Given the description of an element on the screen output the (x, y) to click on. 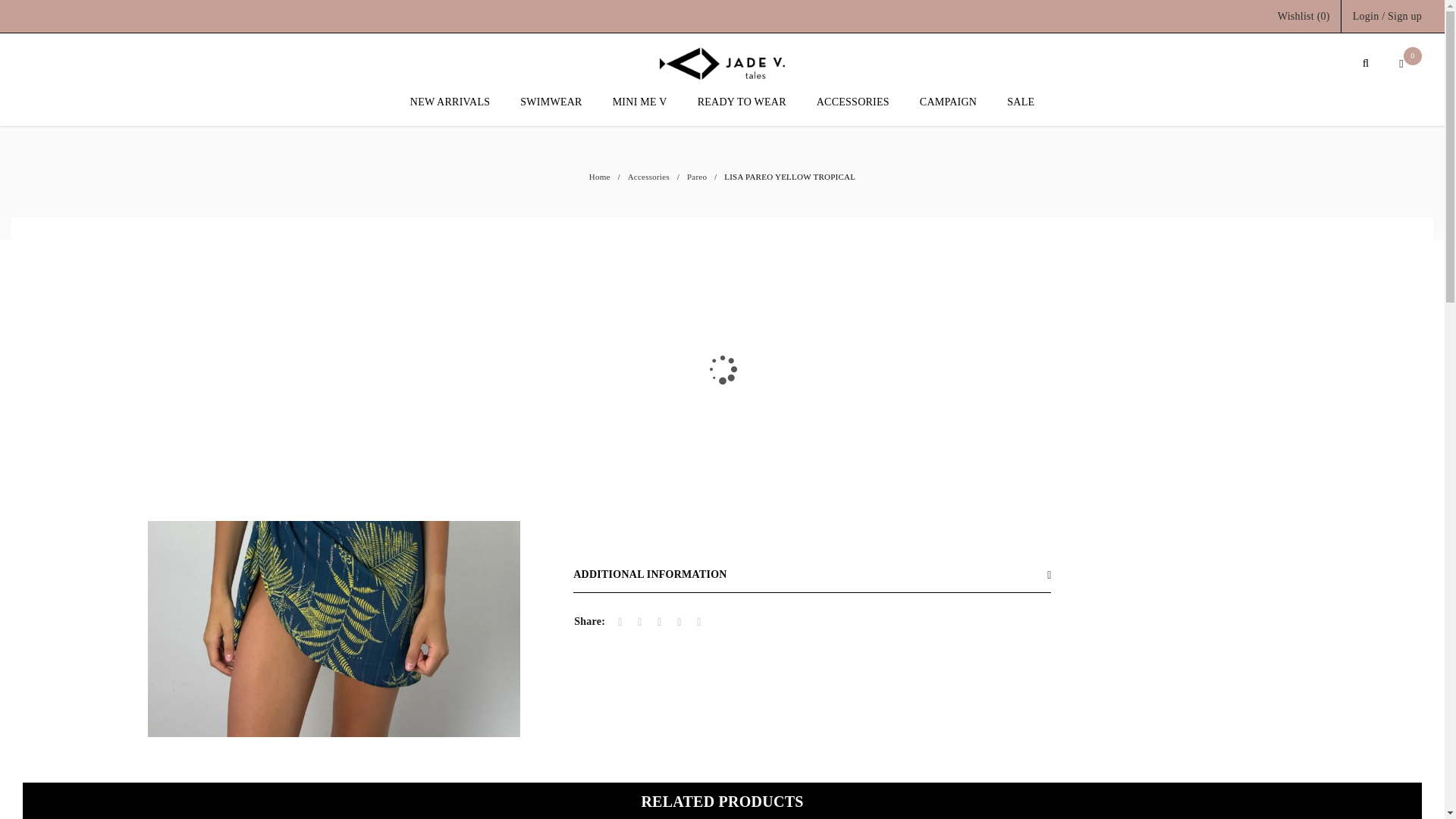
Create New Account (1404, 16)
Wishlist (1304, 16)
0 (1406, 63)
SWIMWEAR (549, 110)
JADE V TALES  (721, 63)
MINI ME V (639, 110)
Login (1365, 16)
Sign up (1404, 16)
View your shopping bag (1406, 63)
NEW ARRIVALS (450, 110)
